Given the description of an element on the screen output the (x, y) to click on. 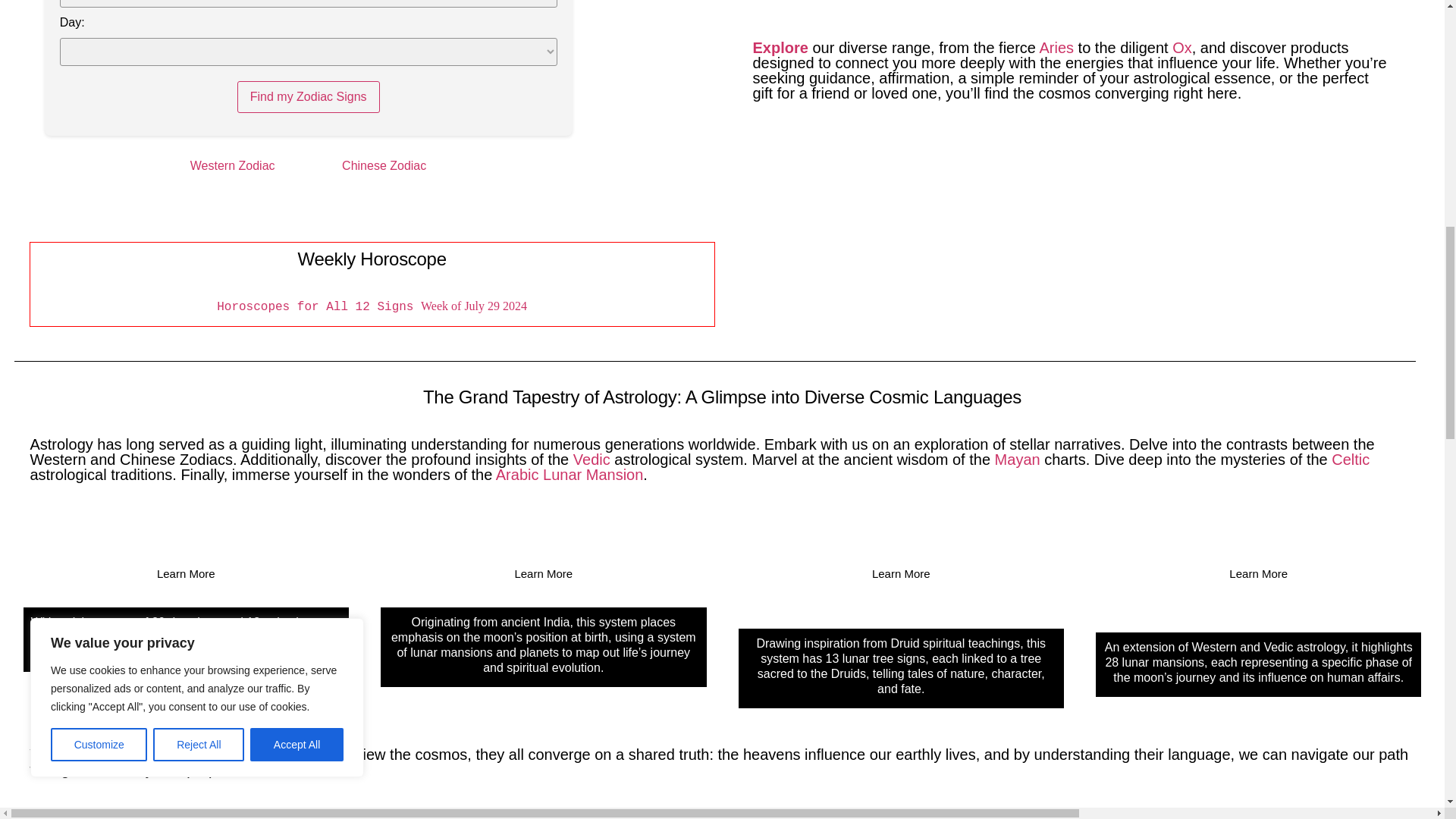
Find my Zodiac Signs (308, 97)
